Given the description of an element on the screen output the (x, y) to click on. 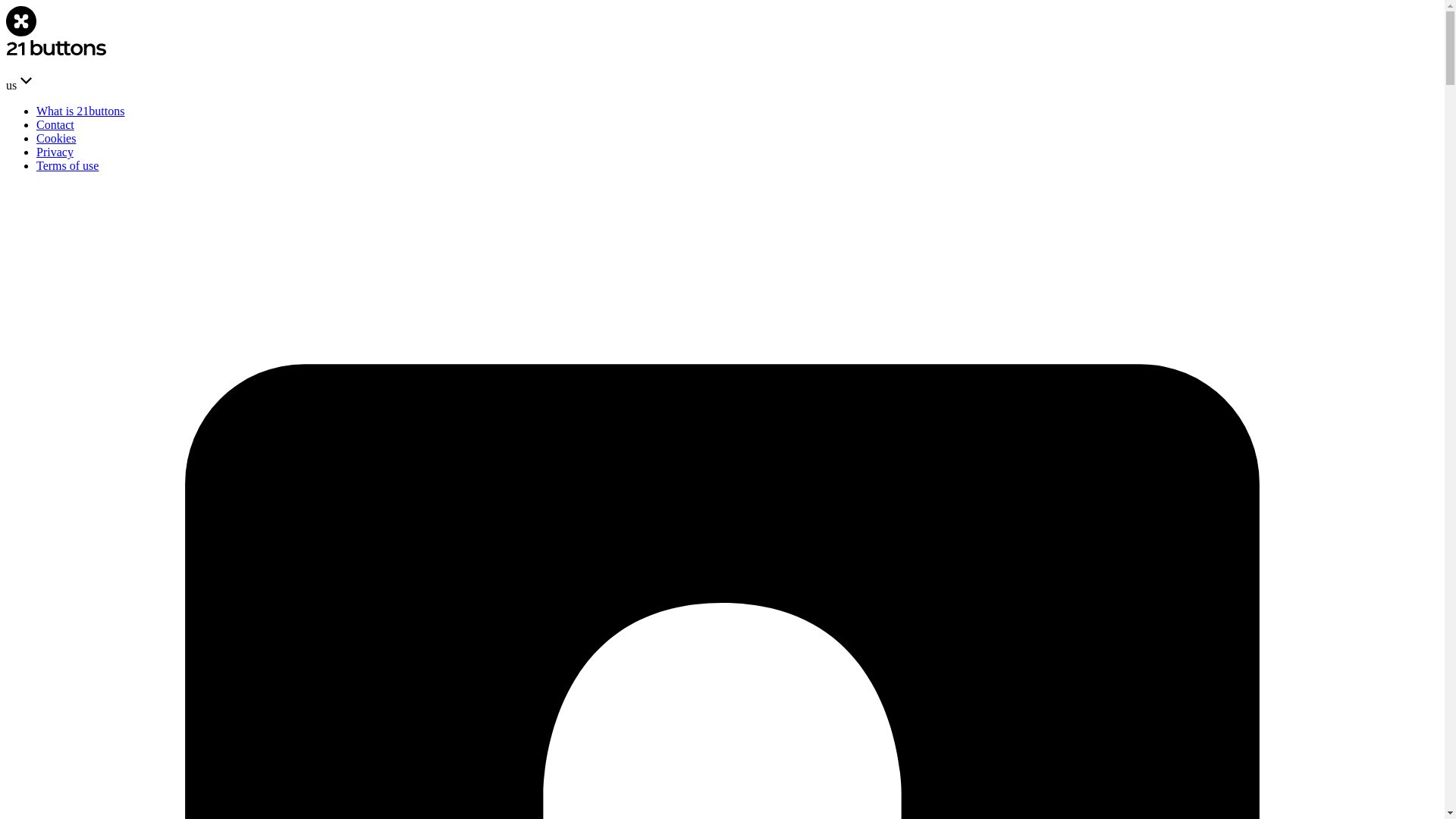
What is 21buttons Element type: text (80, 110)
Contact Element type: text (55, 124)
Terms of use Element type: text (67, 165)
Privacy Element type: text (54, 151)
Cookies Element type: text (55, 137)
